Given the description of an element on the screen output the (x, y) to click on. 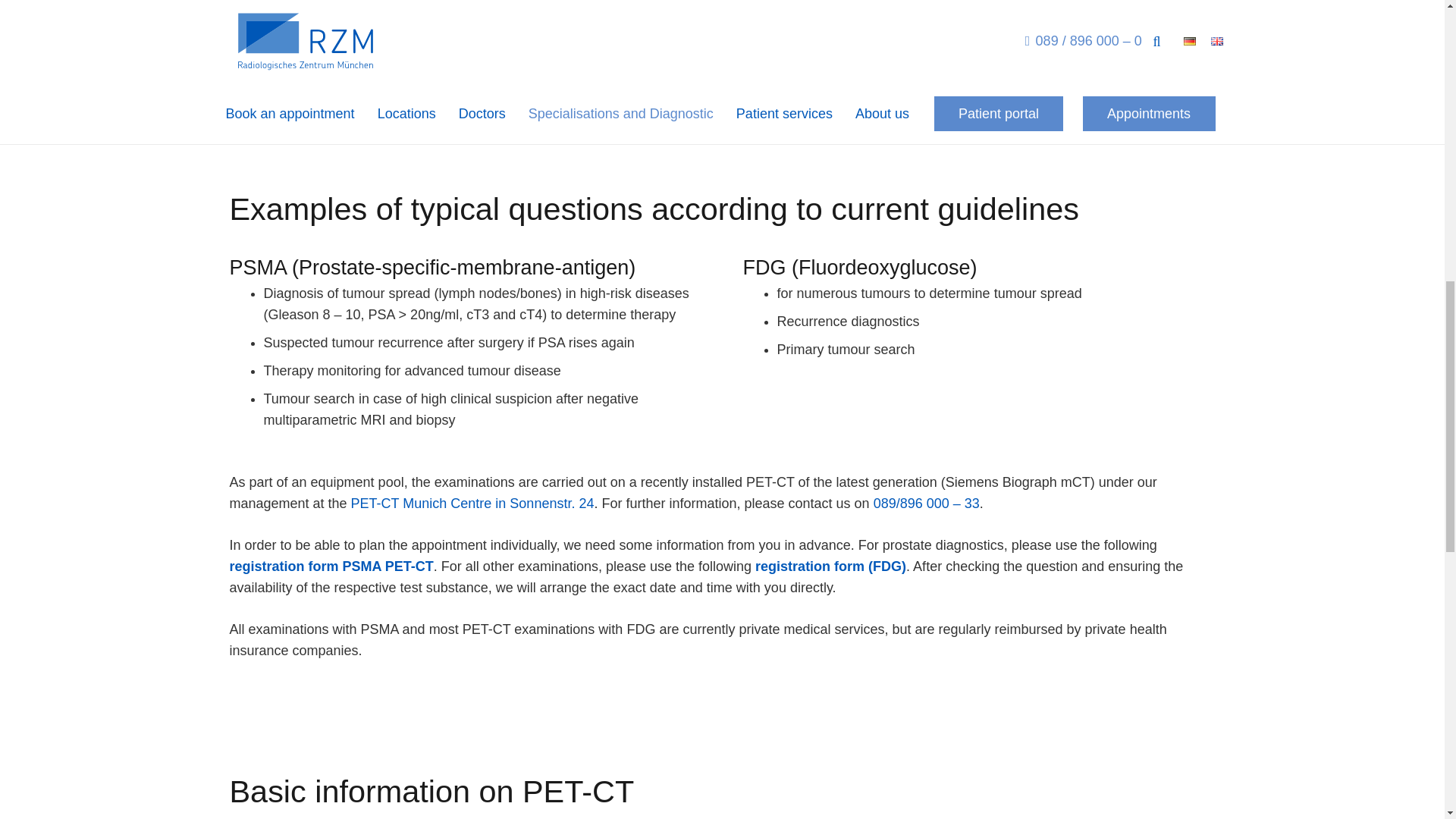
Back to top (1413, 26)
Anmeldeformular PSMA PET-CT (330, 566)
